Given the description of an element on the screen output the (x, y) to click on. 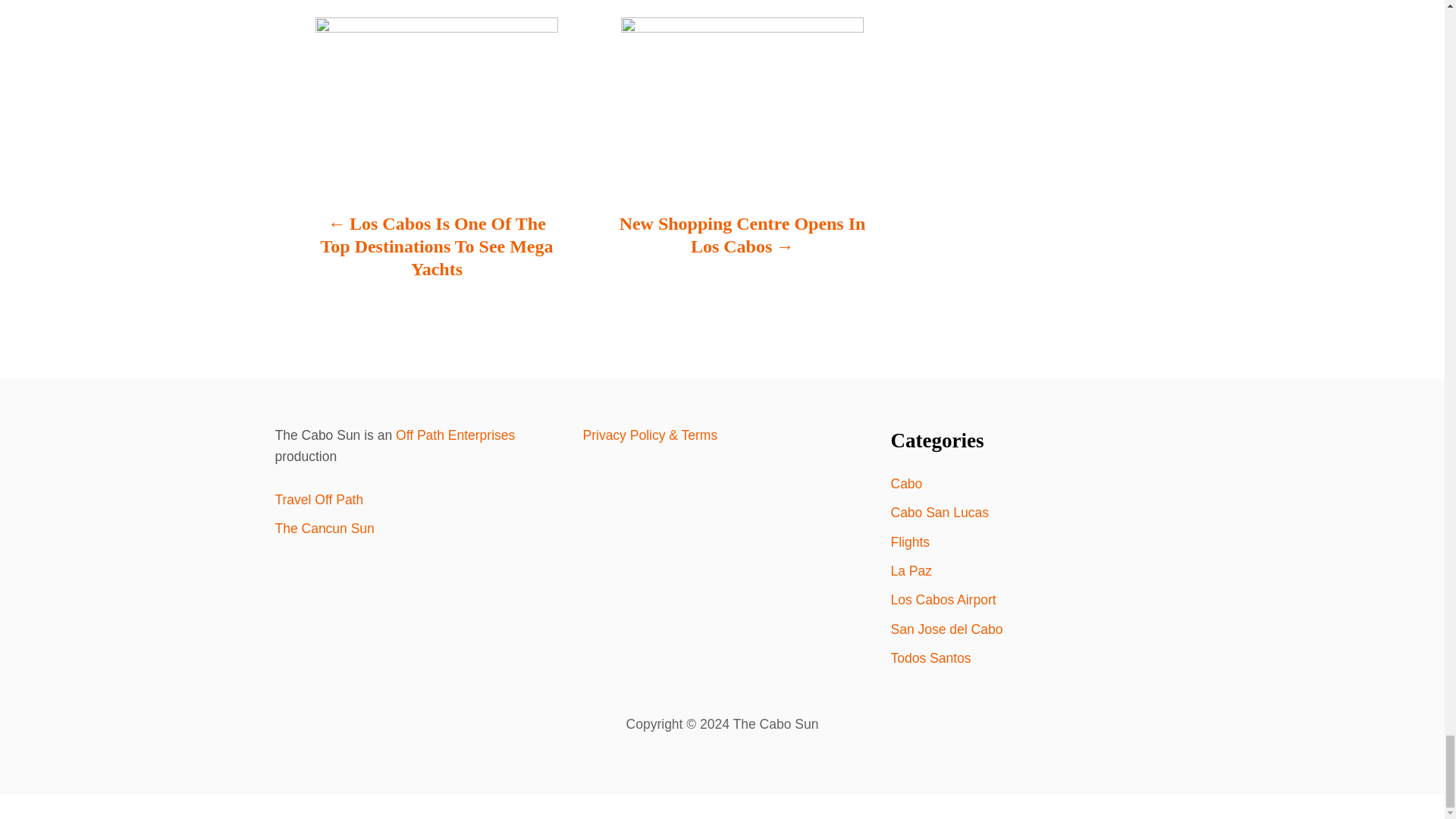
New Shopping Centre Opens In Los Cabos (741, 242)
Los Cabos Is One Of The Top Destinations To See Mega Yachts (437, 253)
